Given the description of an element on the screen output the (x, y) to click on. 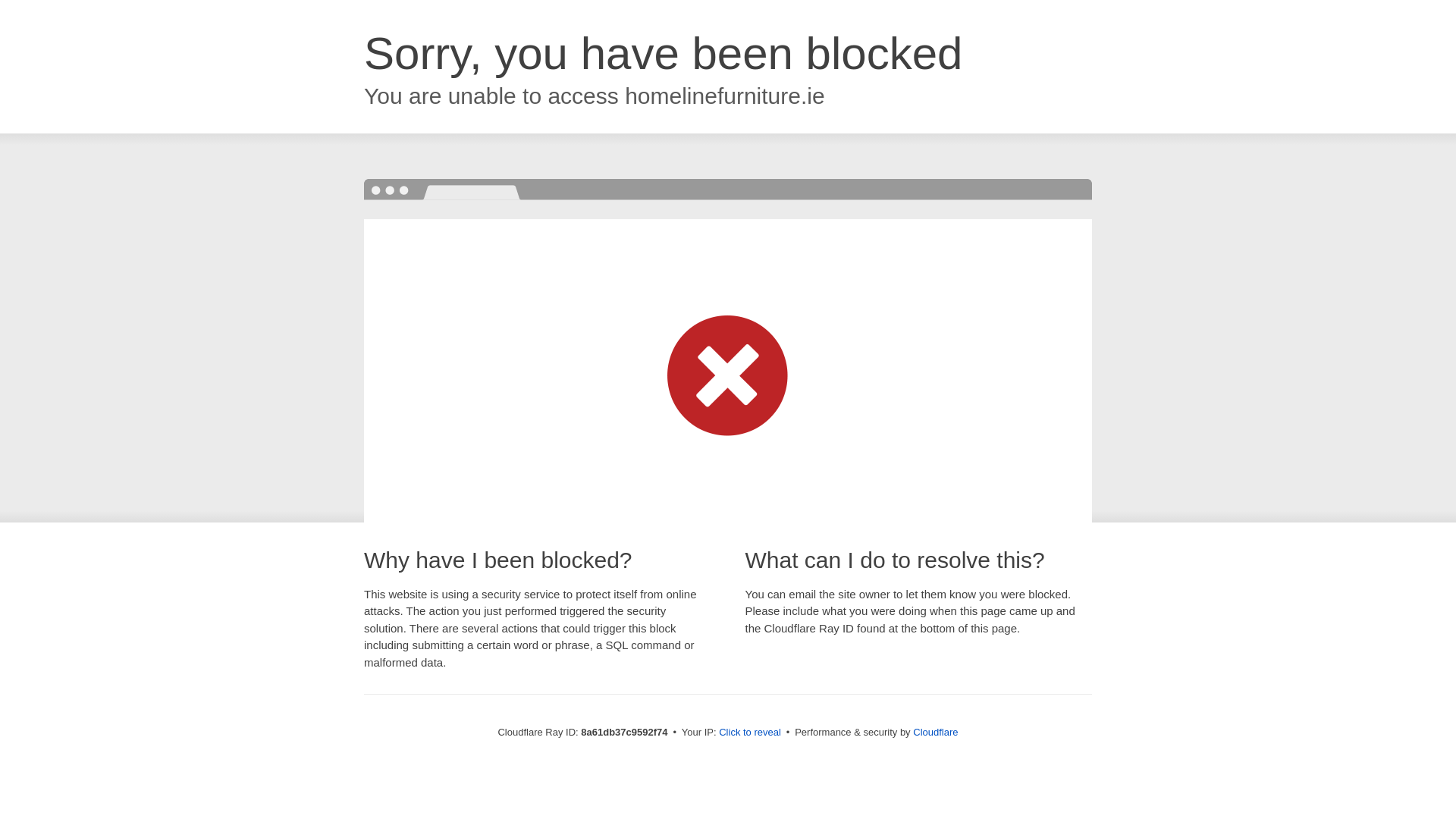
Click to reveal (749, 732)
Cloudflare (935, 731)
